Given the description of an element on the screen output the (x, y) to click on. 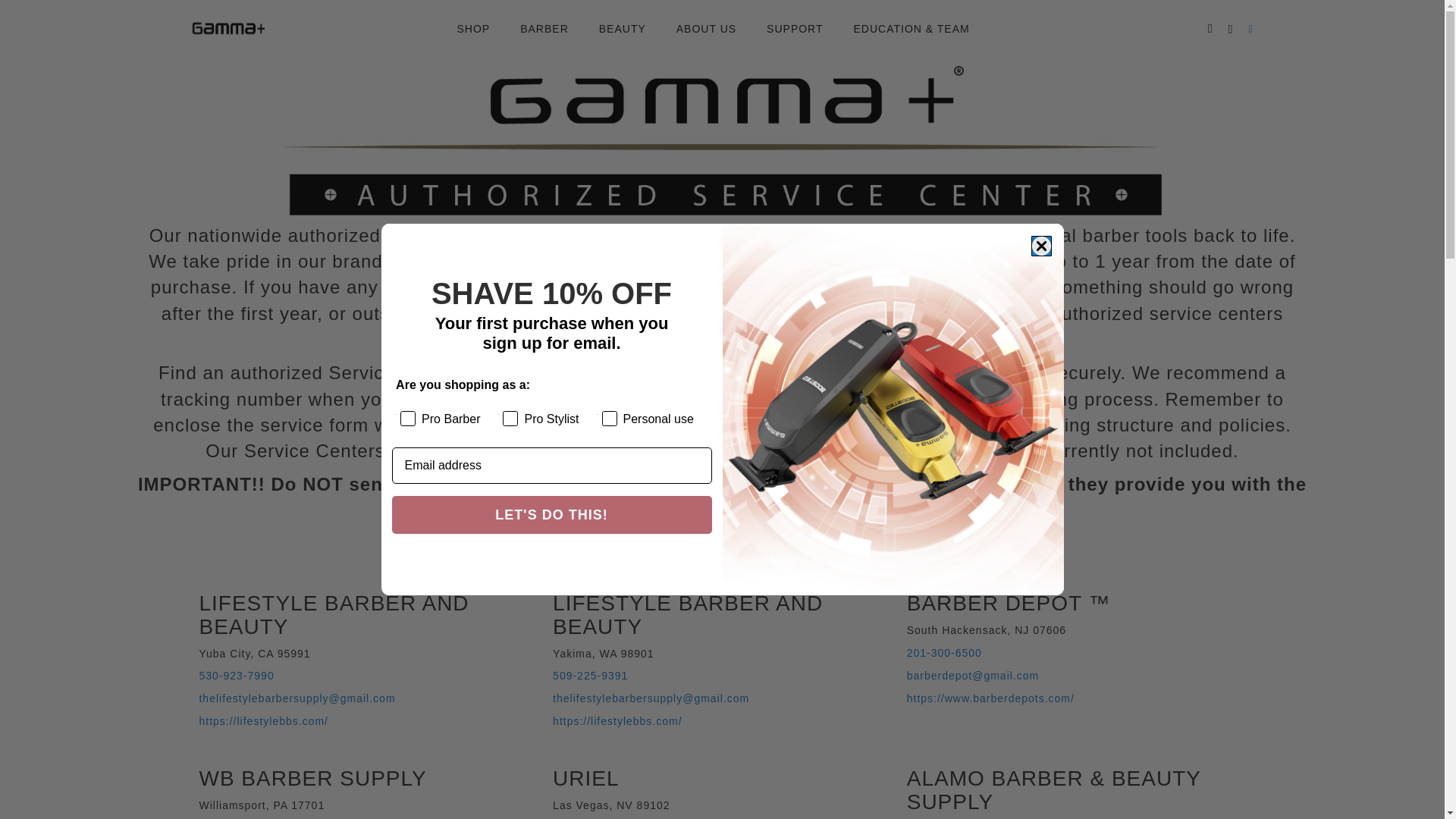
SHOP (481, 28)
BARBER (544, 28)
SUPPORT (794, 28)
BEAUTY (622, 28)
ABOUT US (706, 28)
